Given the description of an element on the screen output the (x, y) to click on. 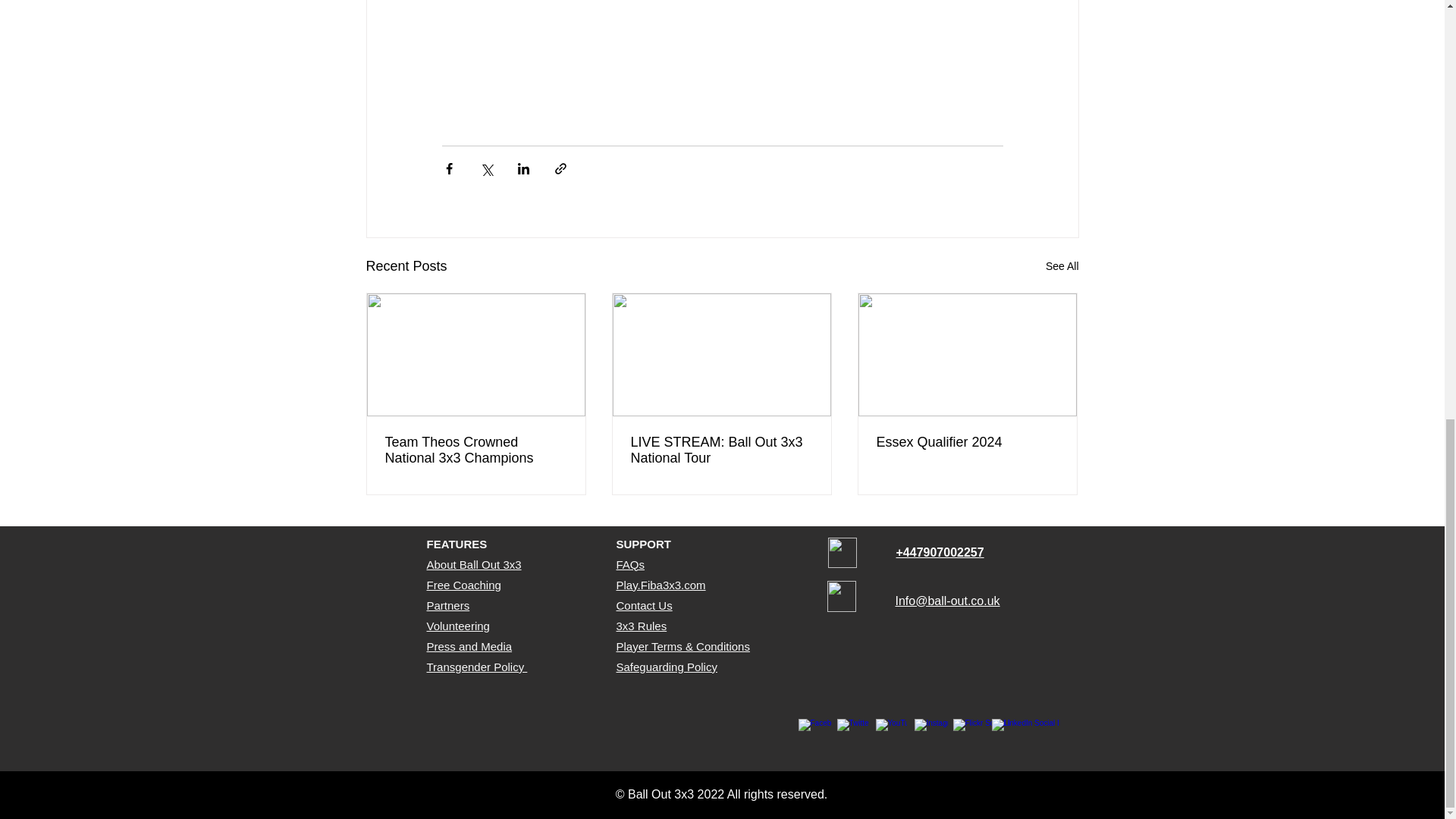
Play.Fiba3x3.com (659, 584)
Contact Us (643, 604)
SUPPORT (643, 543)
See All (1061, 266)
Team Theos Crowned National 3x3 Champions (476, 450)
LIVE STREAM: Ball Out 3x3 National Tour (721, 450)
FAQs (630, 563)
Free Coaching (463, 584)
About Ball Out 3x3 (473, 563)
Essex Qualifier 2024 (967, 442)
